Given the description of an element on the screen output the (x, y) to click on. 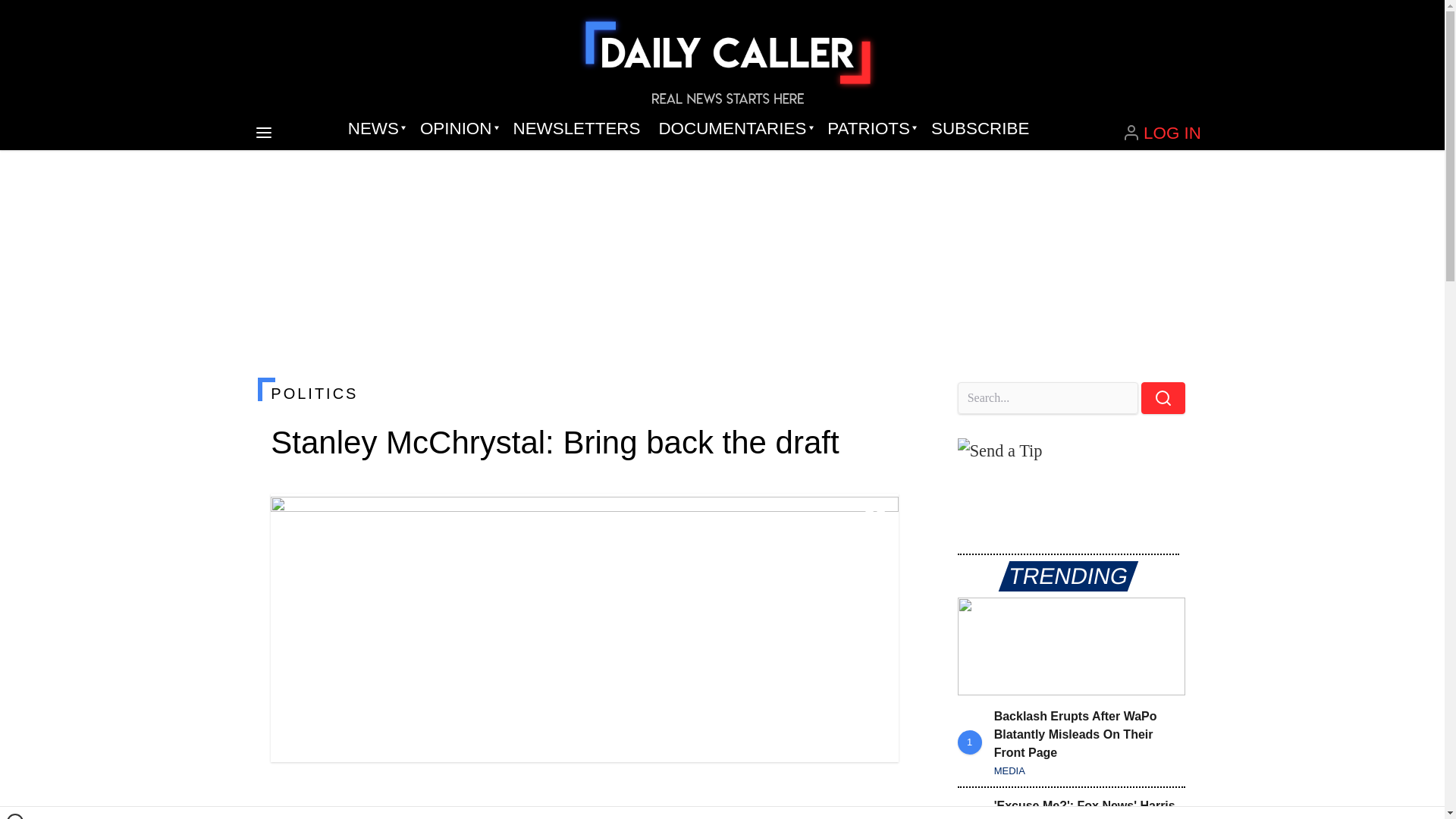
NEWSLETTERS (576, 128)
NEWS (374, 128)
Toggle fullscreen (874, 517)
Close window (14, 816)
OPINION (456, 128)
POLITICS (584, 393)
PATRIOTS (869, 128)
SUBSCRIBE (979, 128)
DOCUMENTARIES (733, 128)
